Given the description of an element on the screen output the (x, y) to click on. 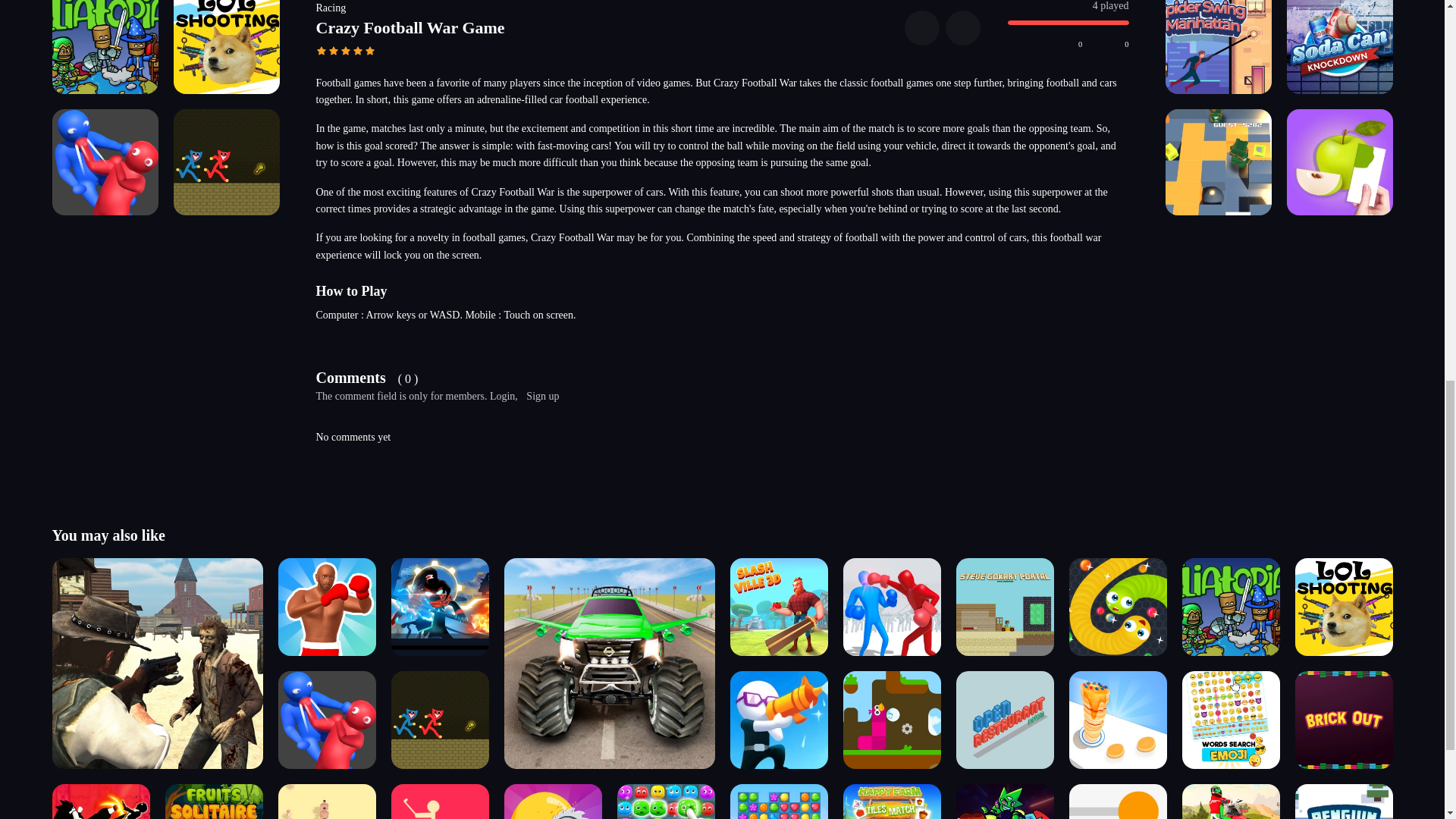
Login (502, 396)
Sign up (542, 396)
Racing (330, 7)
